Given the description of an element on the screen output the (x, y) to click on. 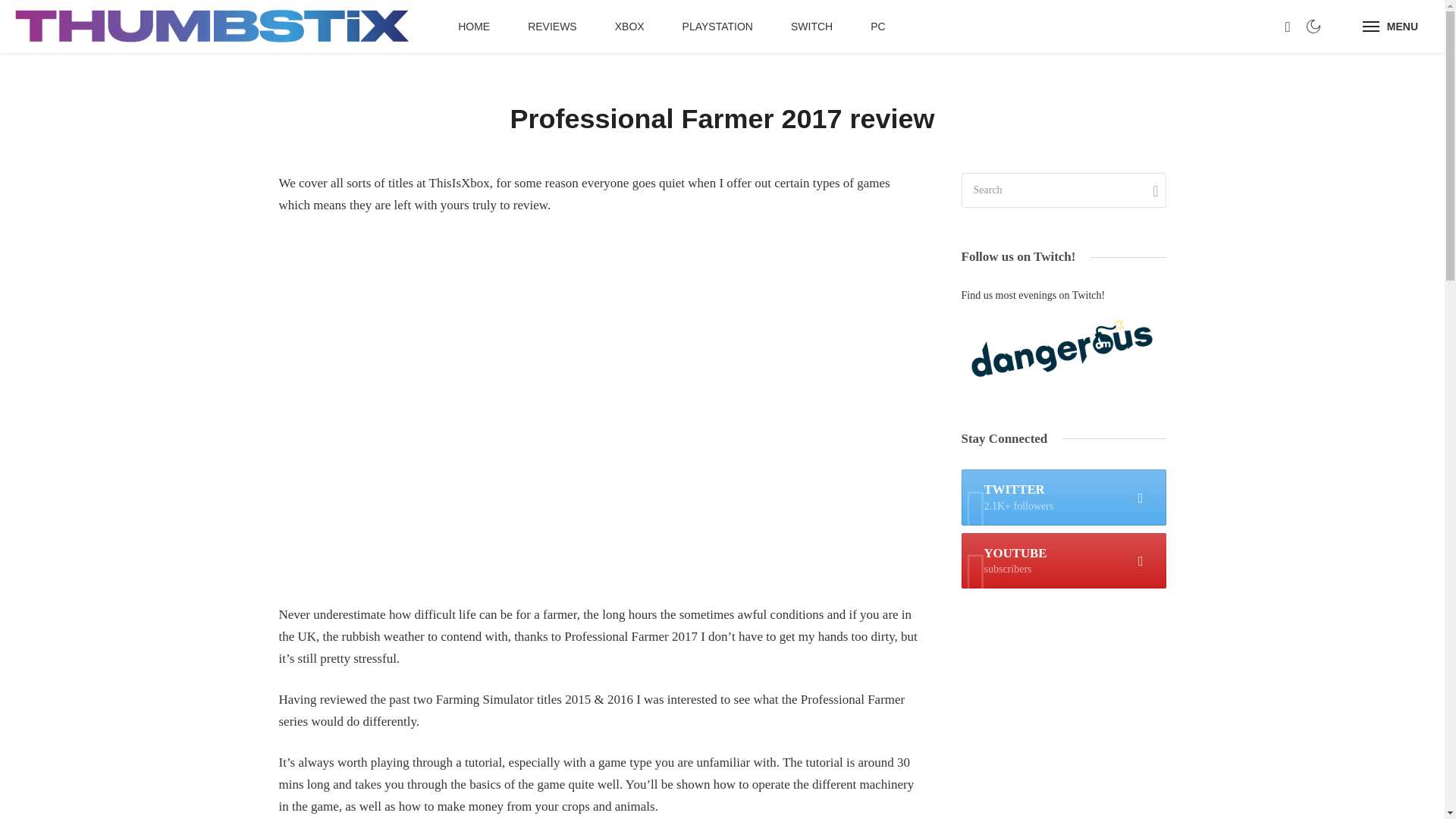
PLAYSTATION (717, 26)
XBOX (629, 26)
HOME (473, 26)
SWITCH (811, 26)
MENU (1390, 26)
REVIEWS (551, 26)
PC (1063, 560)
